Given the description of an element on the screen output the (x, y) to click on. 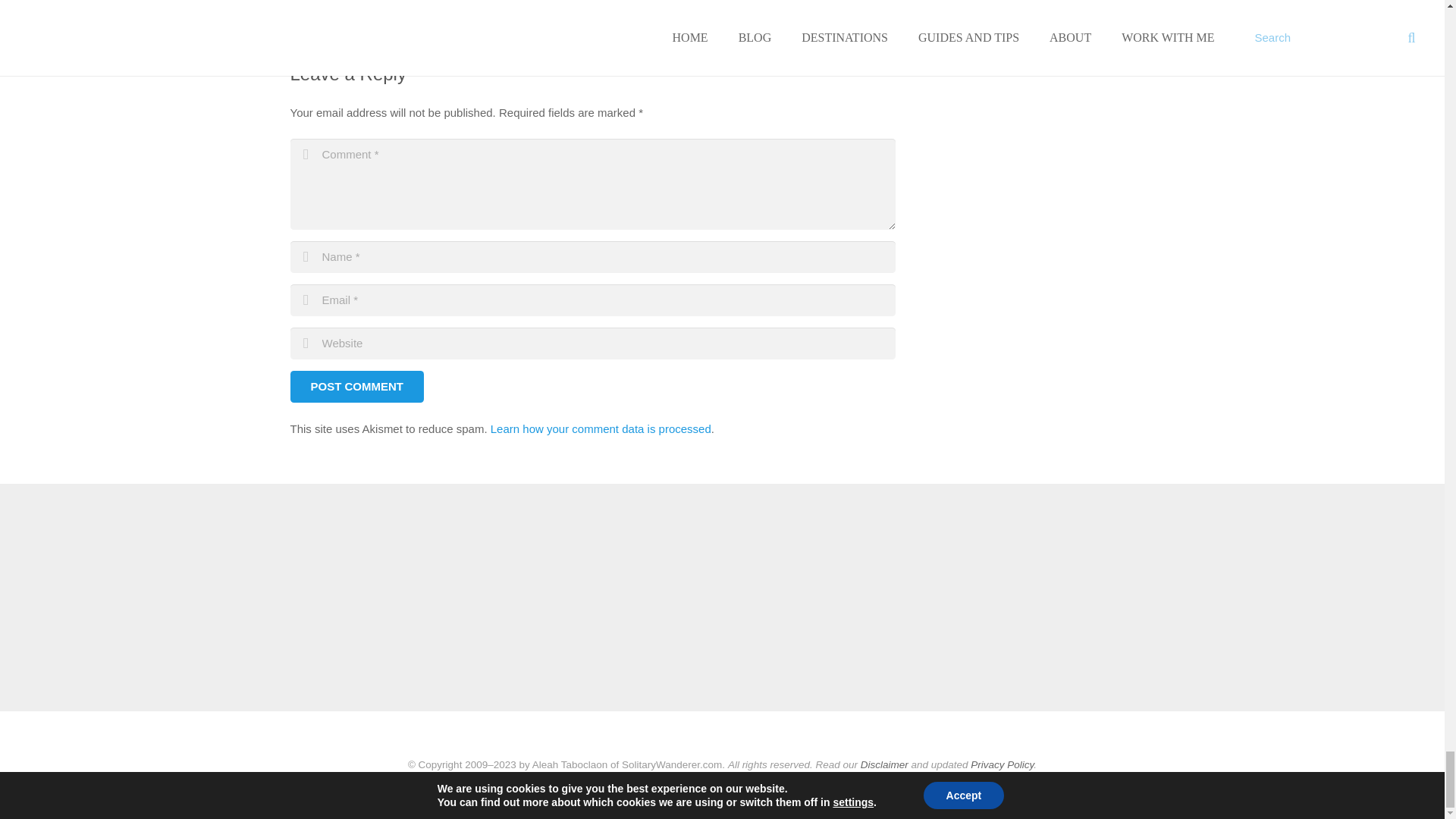
Post Comment (356, 386)
